Given the description of an element on the screen output the (x, y) to click on. 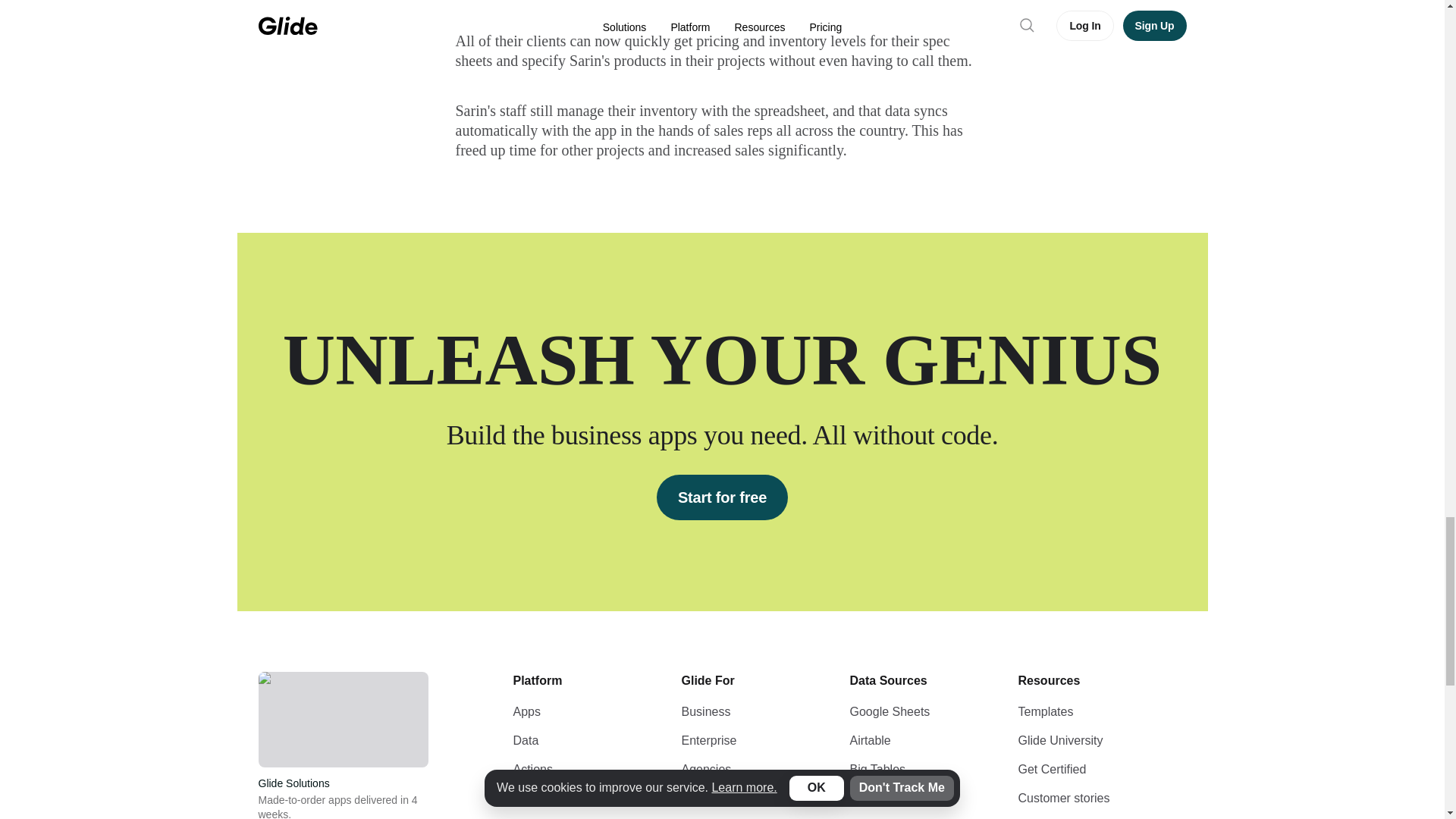
Business (705, 711)
Glide AI (533, 798)
Start for free (721, 497)
Apps (526, 711)
Actions (531, 769)
Data (525, 740)
Integrations (544, 816)
